Given the description of an element on the screen output the (x, y) to click on. 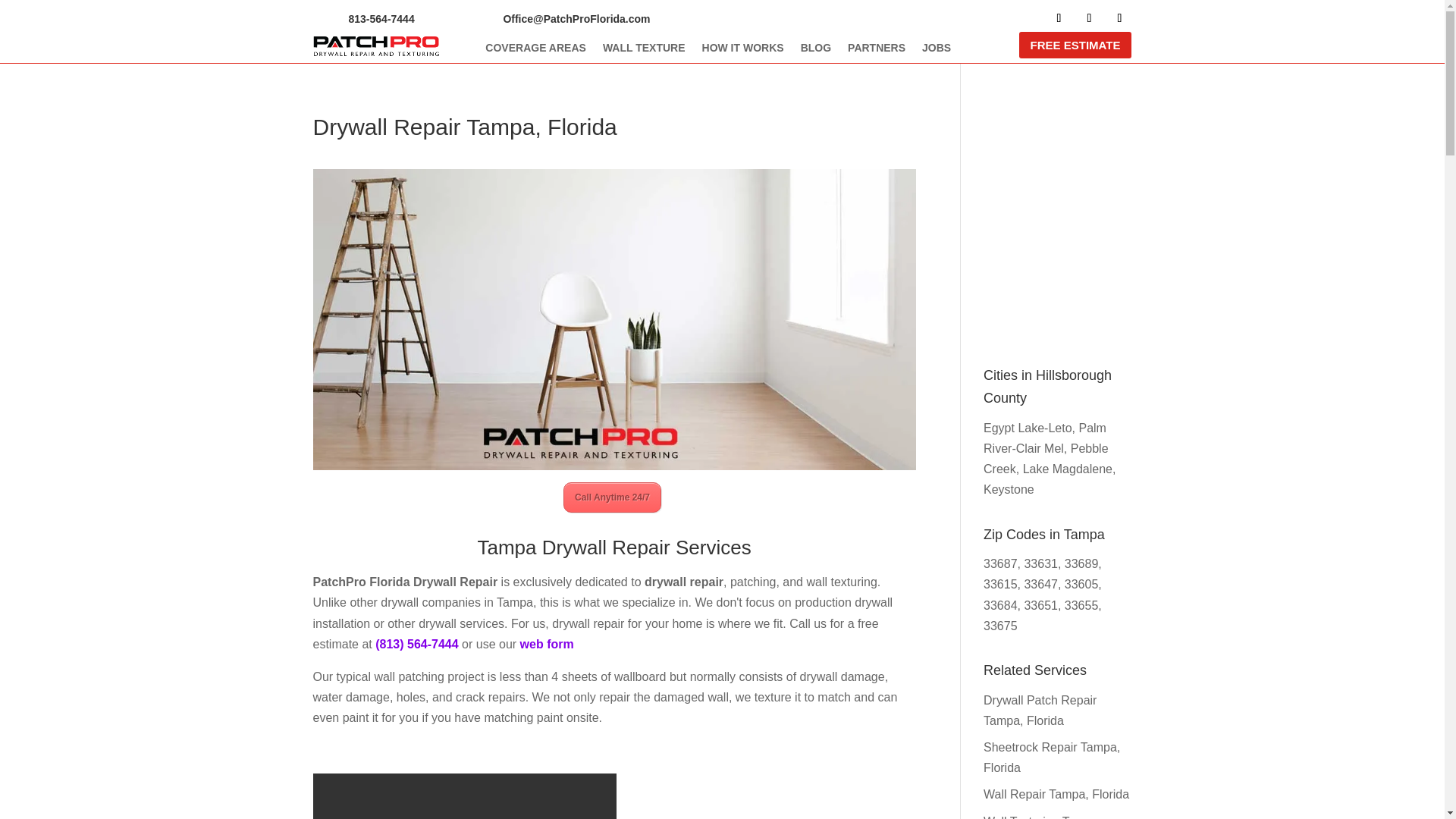
WALL TEXTURE (643, 50)
FREE ESTIMATE (1075, 44)
Lake Magdalene (1067, 468)
Keystone (1008, 489)
web form (546, 644)
Egypt Lake-Leto (1027, 427)
PARTNERS (876, 50)
JOBS (935, 50)
Drywall Patch Repair Tampa, Florida (1040, 710)
COVERAGE AREAS (535, 50)
